Given the description of an element on the screen output the (x, y) to click on. 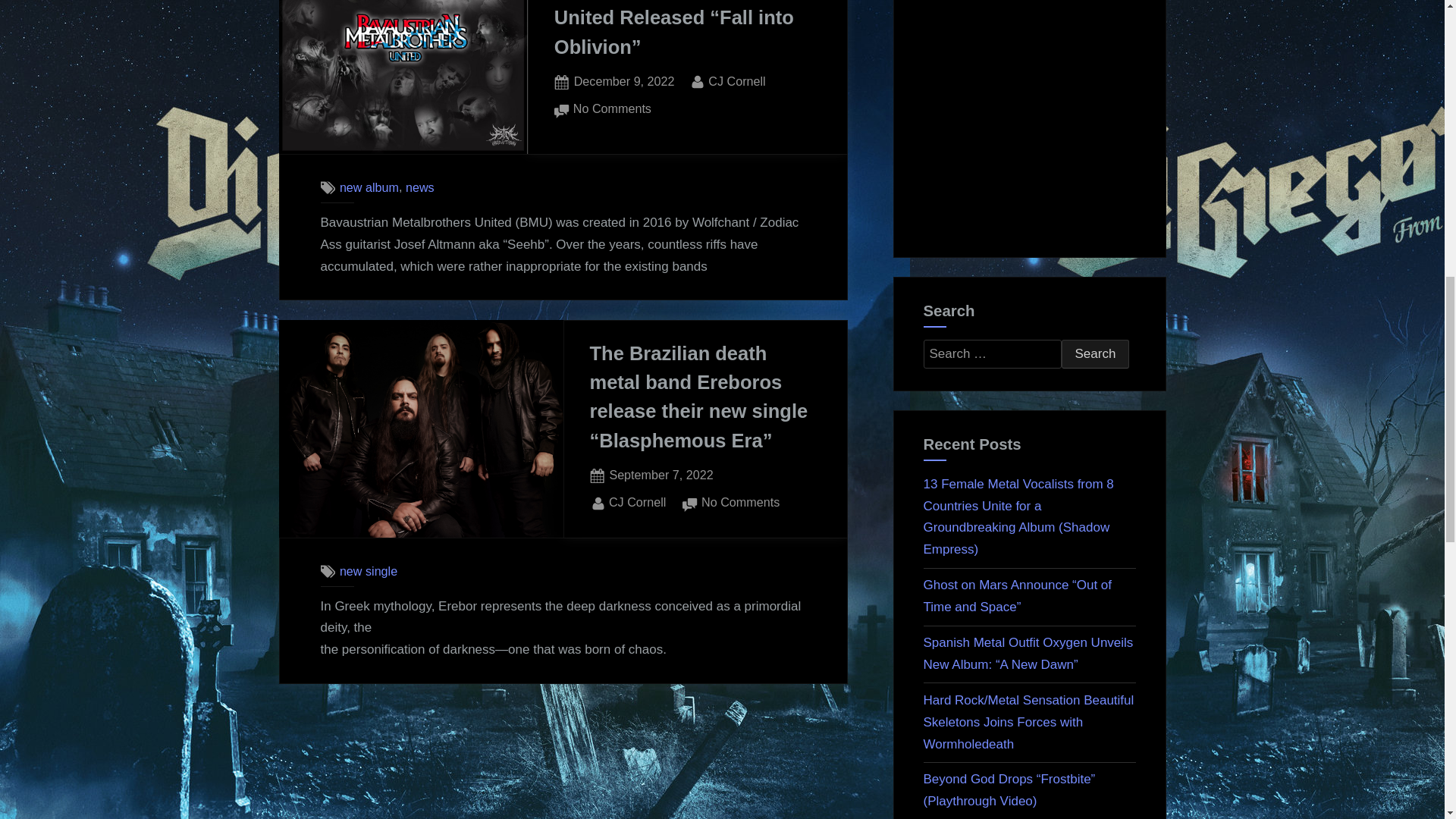
Search (636, 502)
Search (1095, 353)
news (1095, 353)
new album (660, 475)
new single (419, 187)
Search (368, 187)
